Given the description of an element on the screen output the (x, y) to click on. 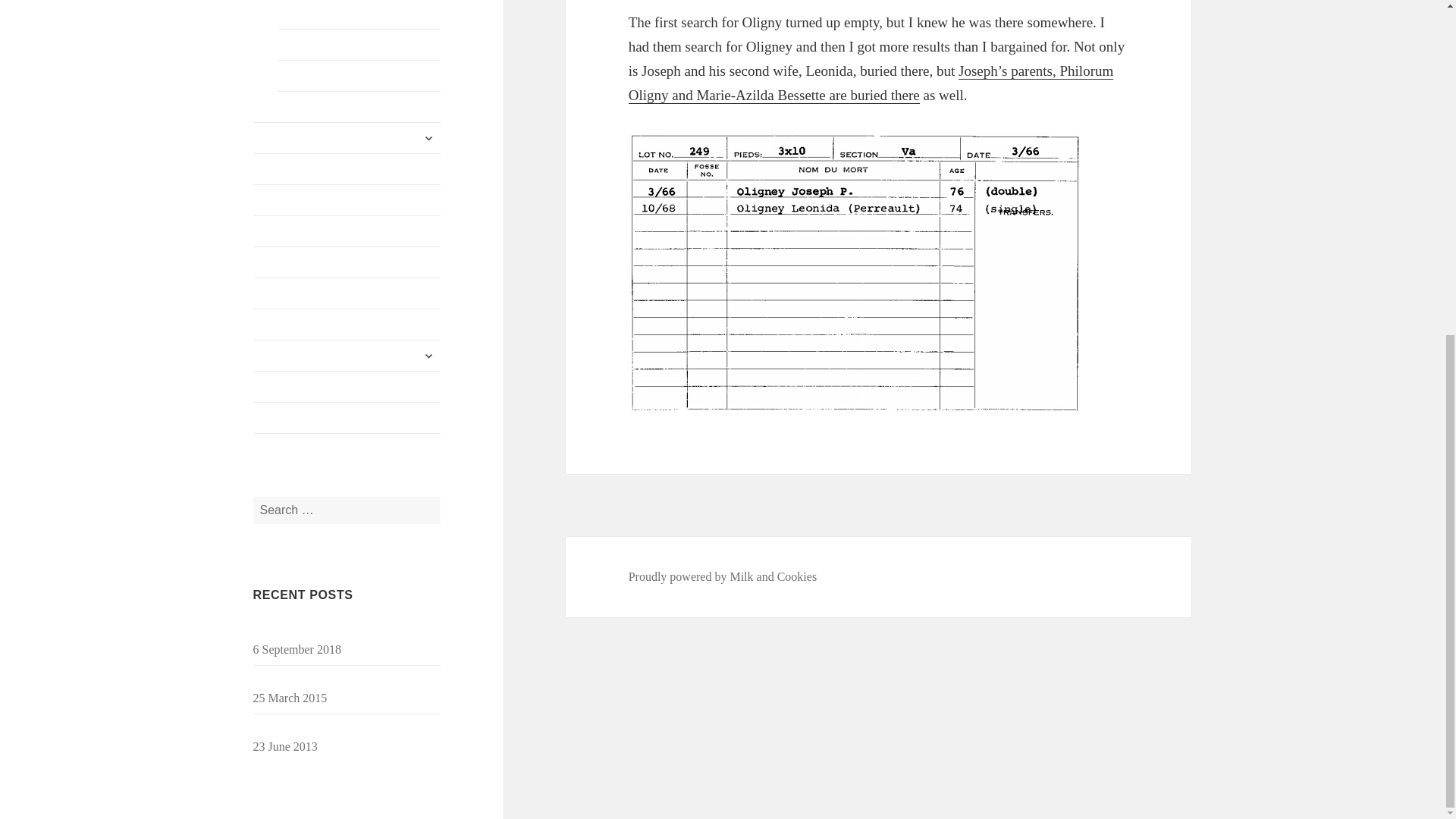
All my Genealogy Information (347, 168)
